Given the description of an element on the screen output the (x, y) to click on. 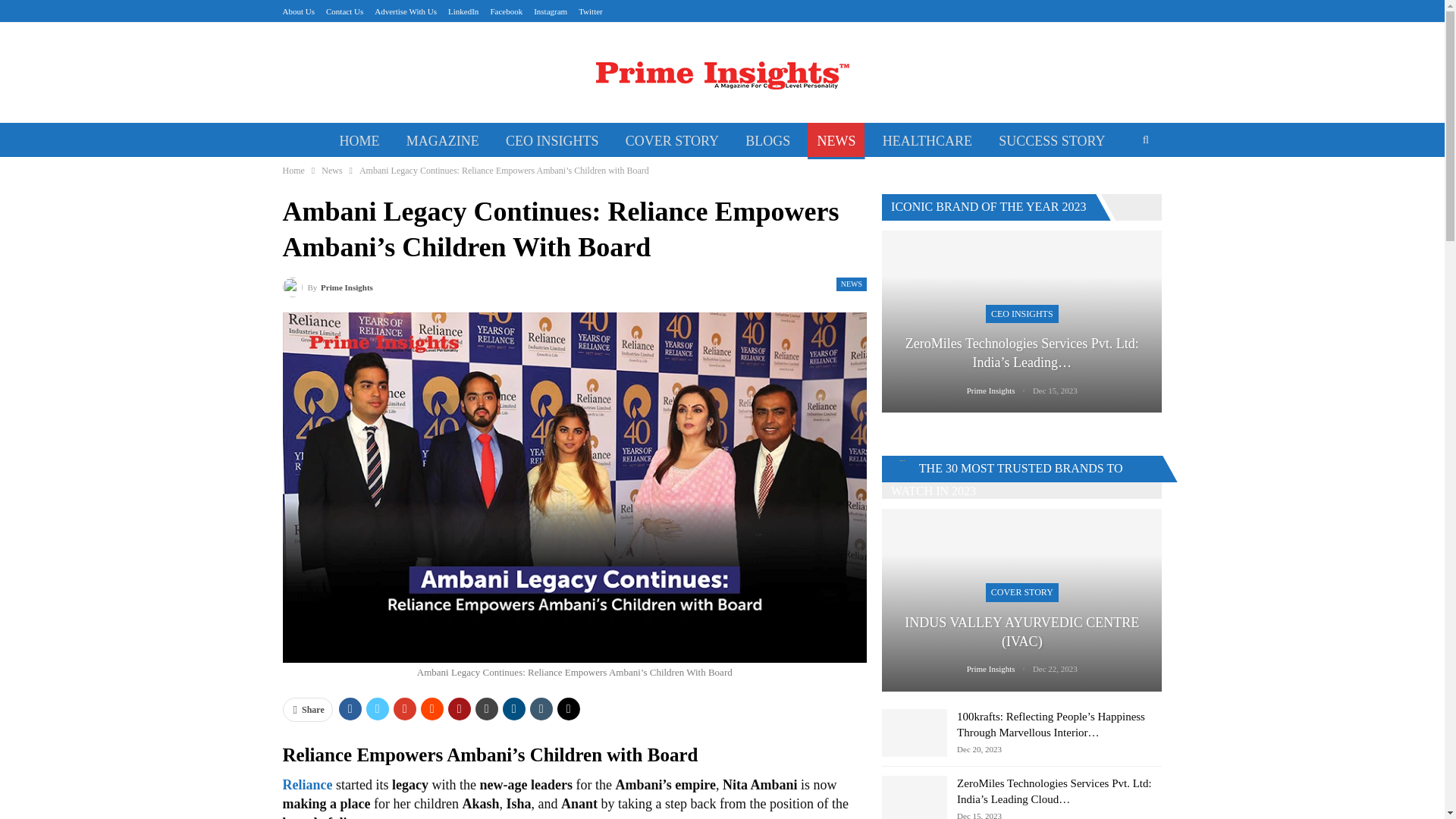
Facebook (505, 10)
Advertise With Us (405, 10)
LinkedIn (463, 10)
By Prime Insights (327, 286)
SUCCESS STORY (1051, 140)
Browse Author Articles (327, 286)
NEWS (850, 284)
News (331, 170)
NEWS (836, 140)
BLOGS (767, 140)
MAGAZINE (442, 140)
CEO INSIGHTS (552, 140)
HEALTHCARE (927, 140)
Home (293, 170)
Reliance (306, 784)
